Given the description of an element on the screen output the (x, y) to click on. 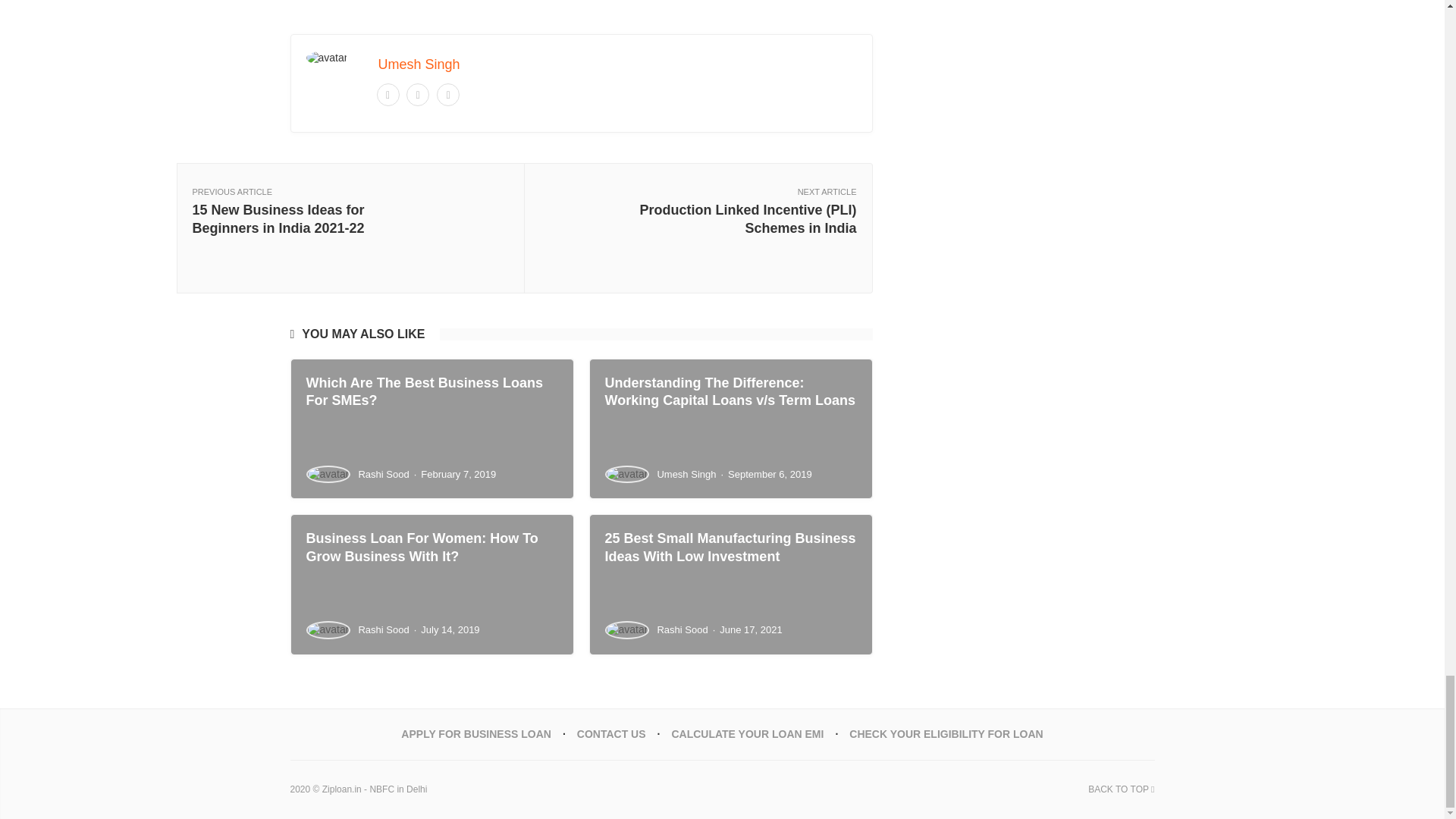
BACK TO TOP  (1120, 789)
